Given the description of an element on the screen output the (x, y) to click on. 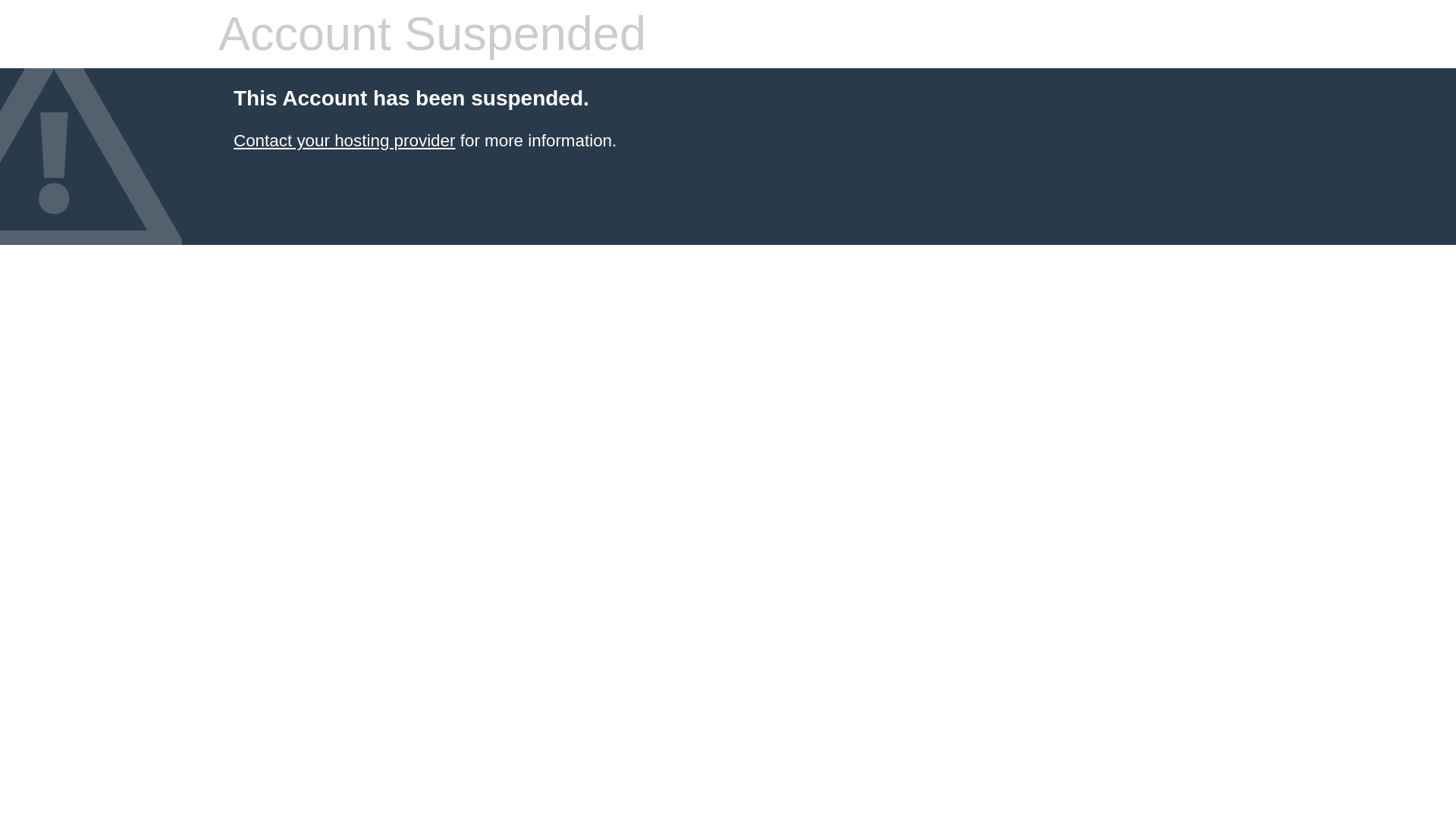
Contact your hosting provider (343, 140)
